Given the description of an element on the screen output the (x, y) to click on. 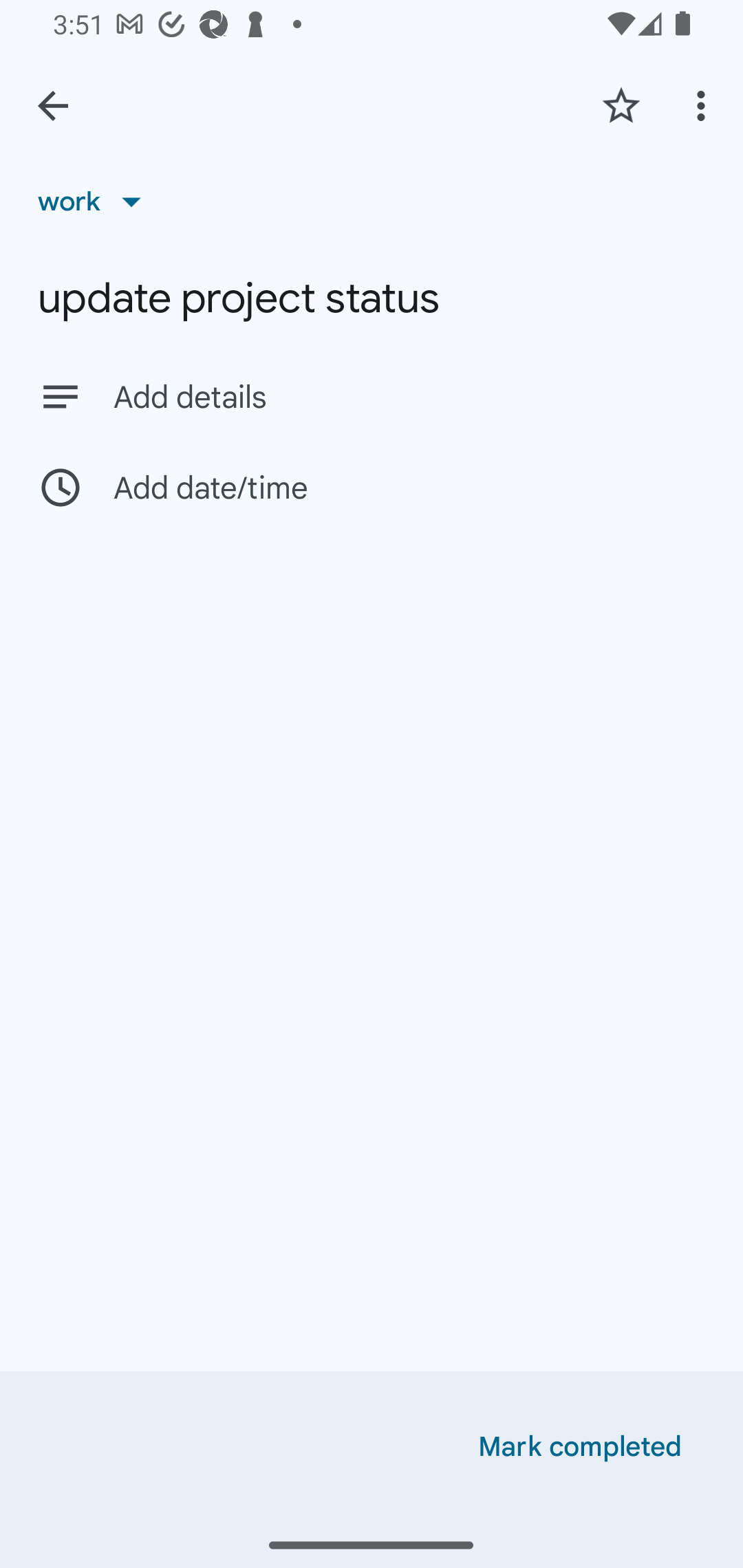
Back (53, 105)
Add star (620, 105)
More options (704, 105)
work List, work selected, 1 of 19 (95, 201)
update project status (371, 298)
Add details (371, 396)
Add details (409, 397)
Add date/time (371, 487)
Mark completed (580, 1446)
